Given the description of an element on the screen output the (x, y) to click on. 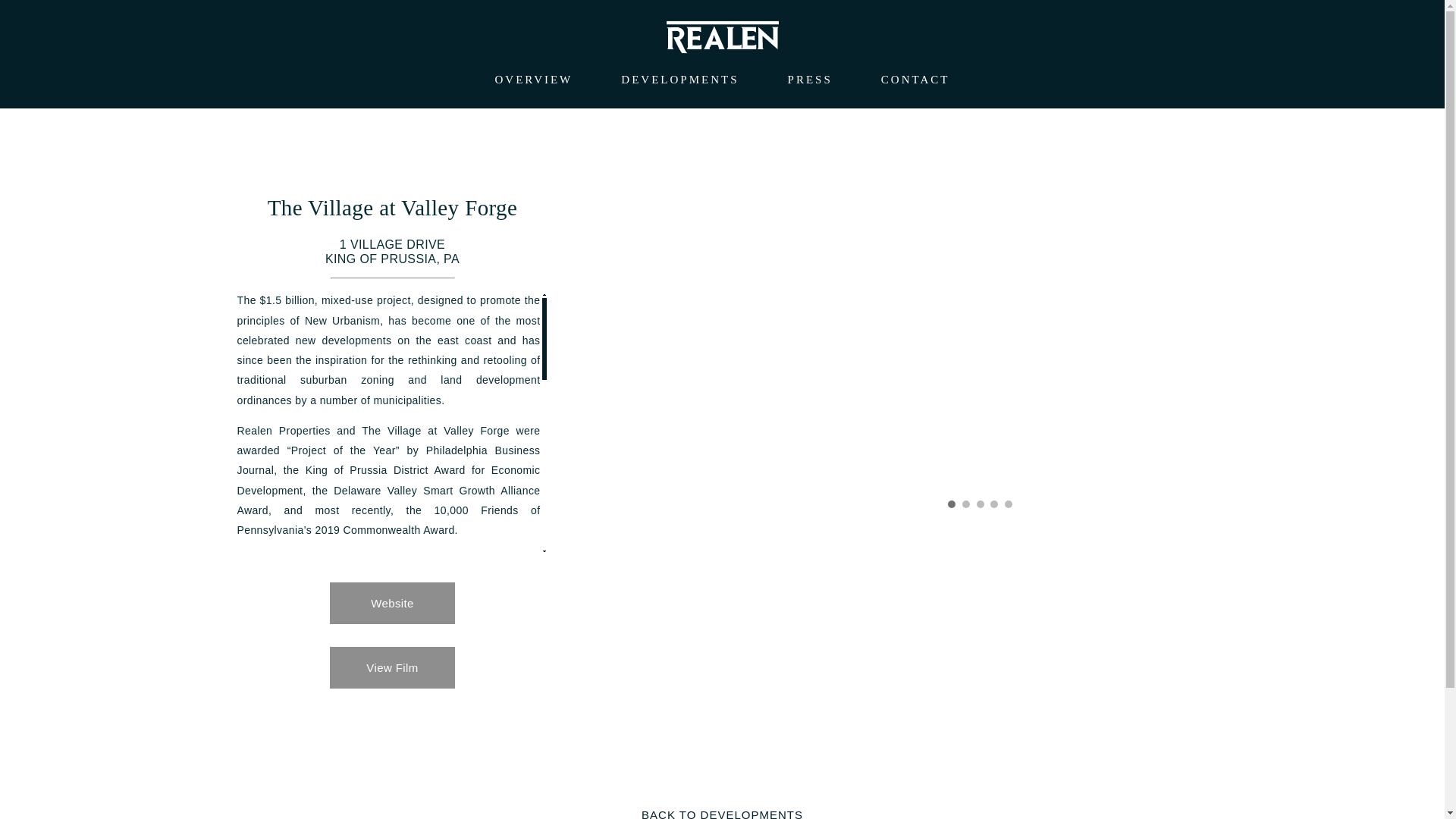
Website (392, 603)
CONTACT (915, 79)
OVERVIEW (533, 79)
BACK TO DEVELOPMENTS (722, 813)
Skip to Main Content (46, 52)
Realen Properties (721, 36)
DEVELOPMENTS (679, 79)
Skip to Footer (46, 53)
Enable Accessibility Mode (46, 53)
PRESS (809, 79)
View Film (392, 667)
